Given the description of an element on the screen output the (x, y) to click on. 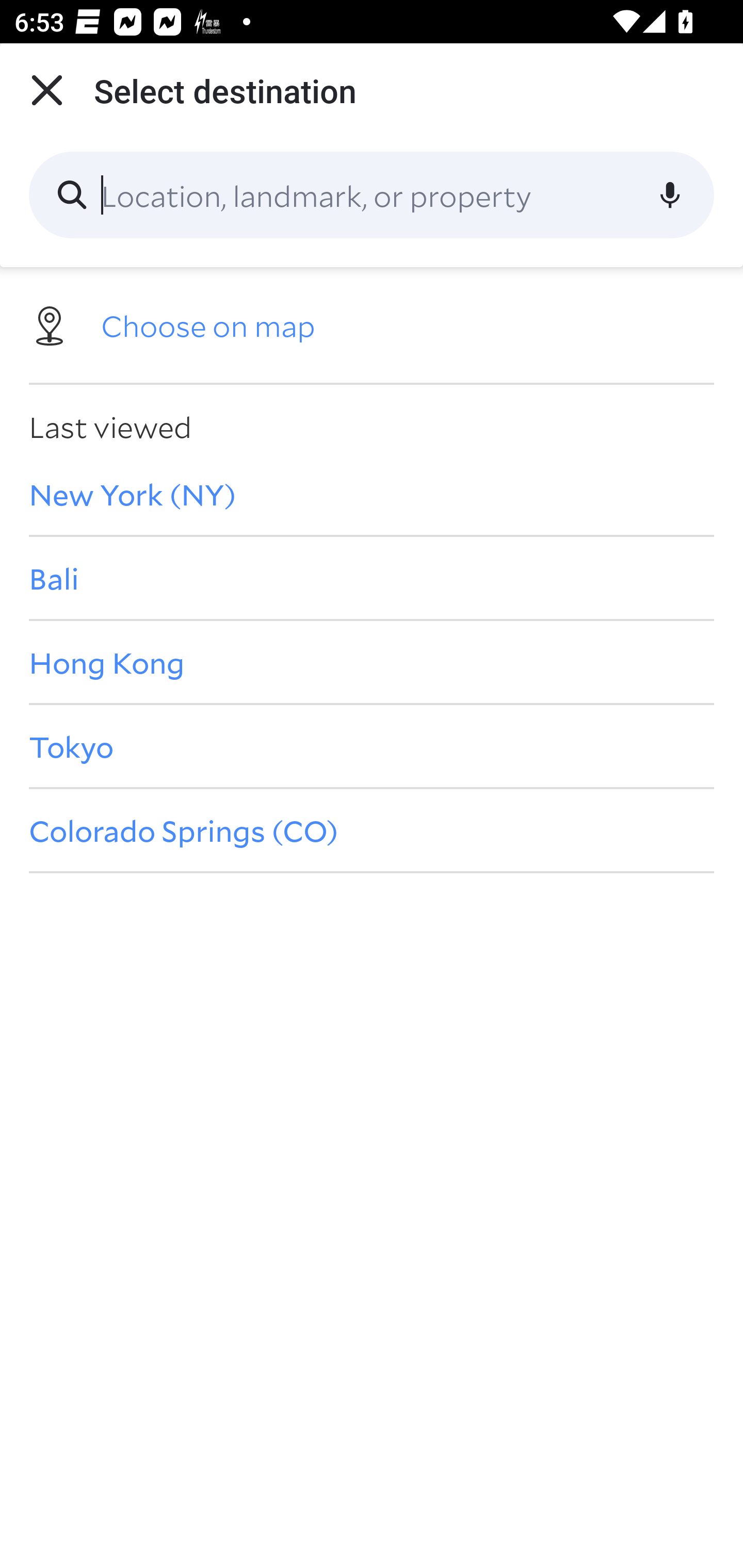
Location, landmark, or property (371, 195)
Choose on map (371, 324)
New York (NY) (371, 493)
Bali (371, 577)
Hong Kong (371, 661)
Tokyo (371, 746)
Colorado Springs (CO) (371, 829)
